Given the description of an element on the screen output the (x, y) to click on. 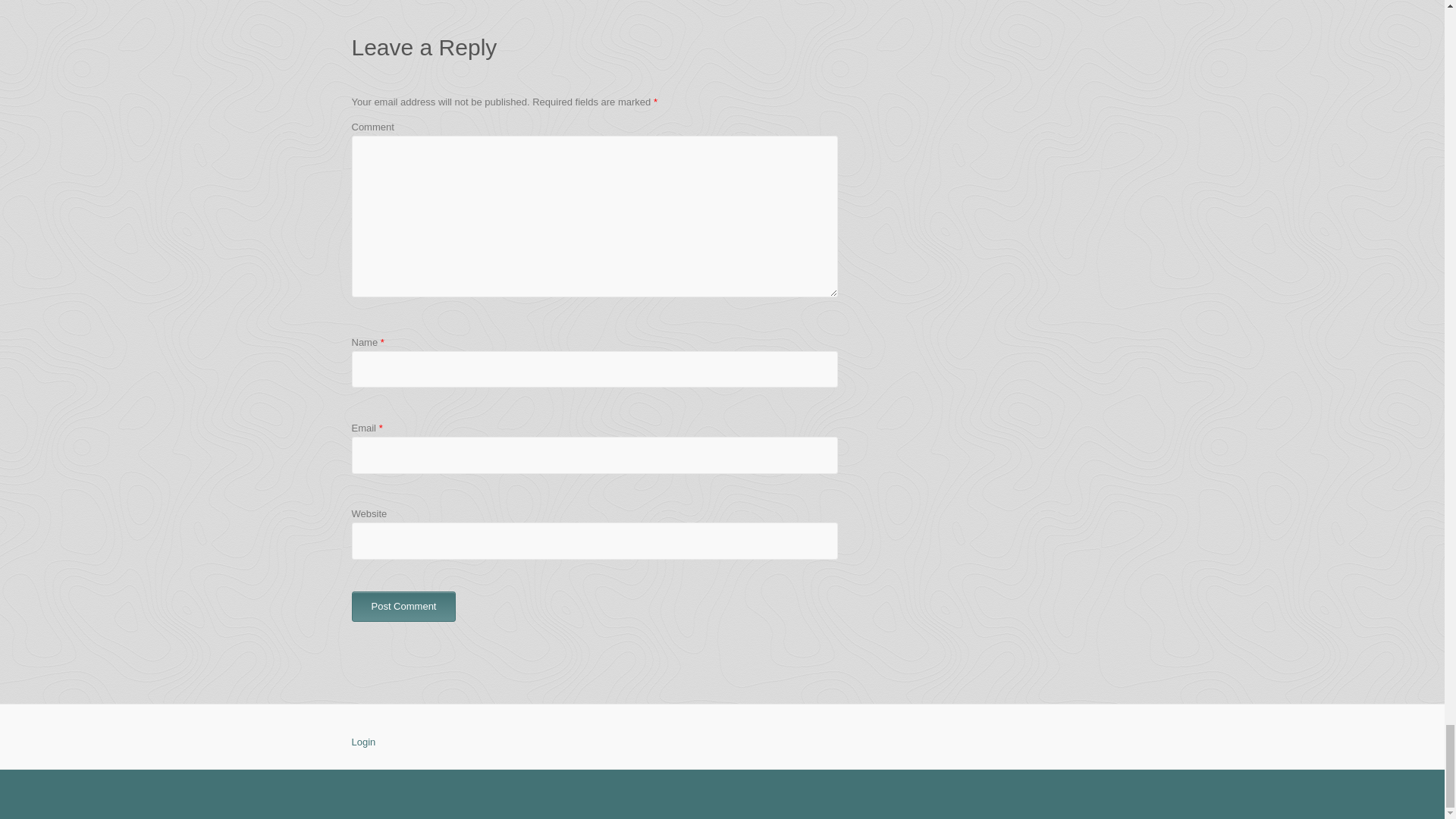
Post Comment (404, 606)
